Given the description of an element on the screen output the (x, y) to click on. 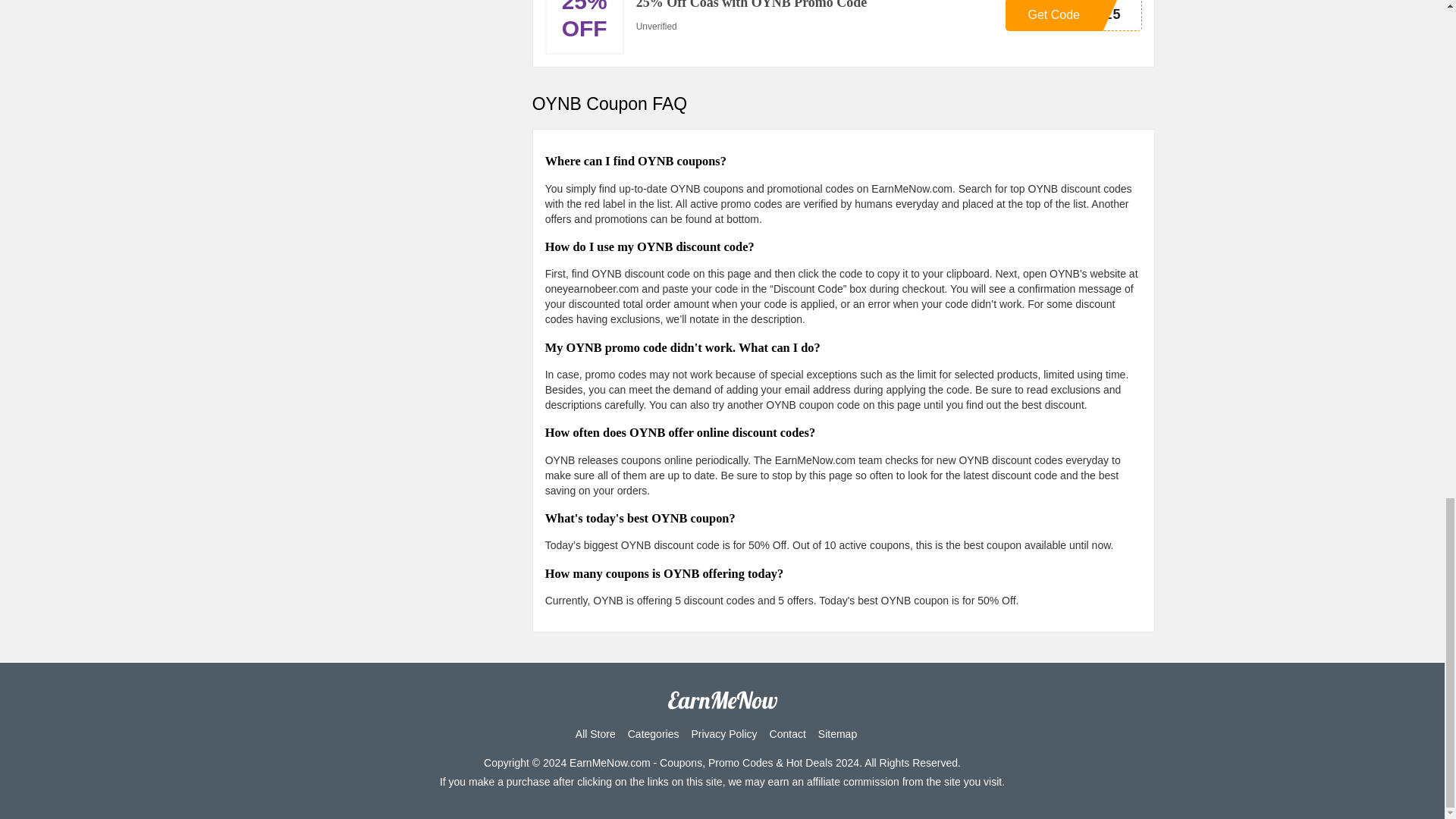
Sitemap (837, 734)
All Store (595, 734)
Categories (1073, 15)
Contact (653, 734)
Privacy Policy (788, 734)
